Given the description of an element on the screen output the (x, y) to click on. 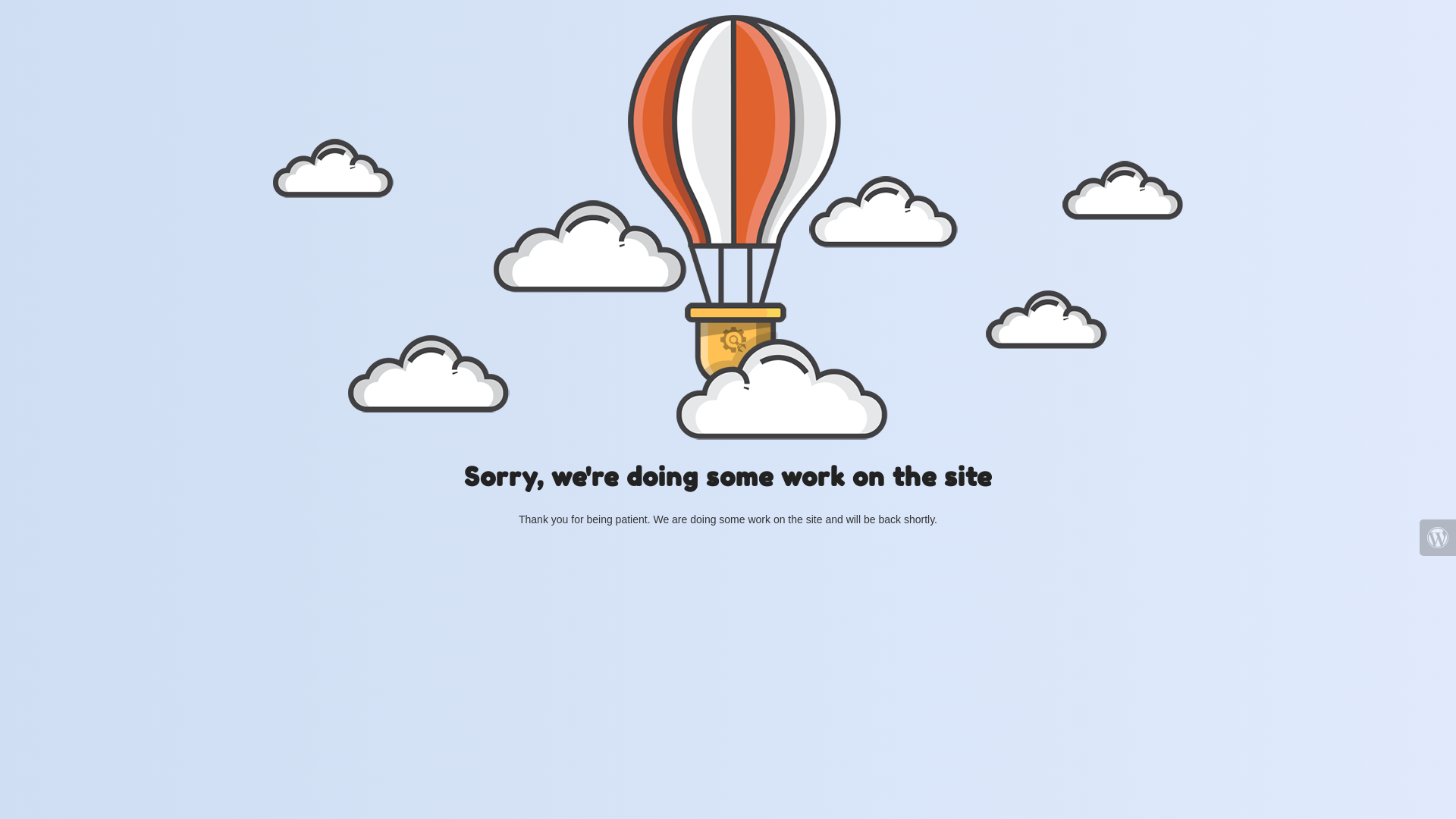
Hot Air Baloon flying Element type: hover (728, 227)
